Given the description of an element on the screen output the (x, y) to click on. 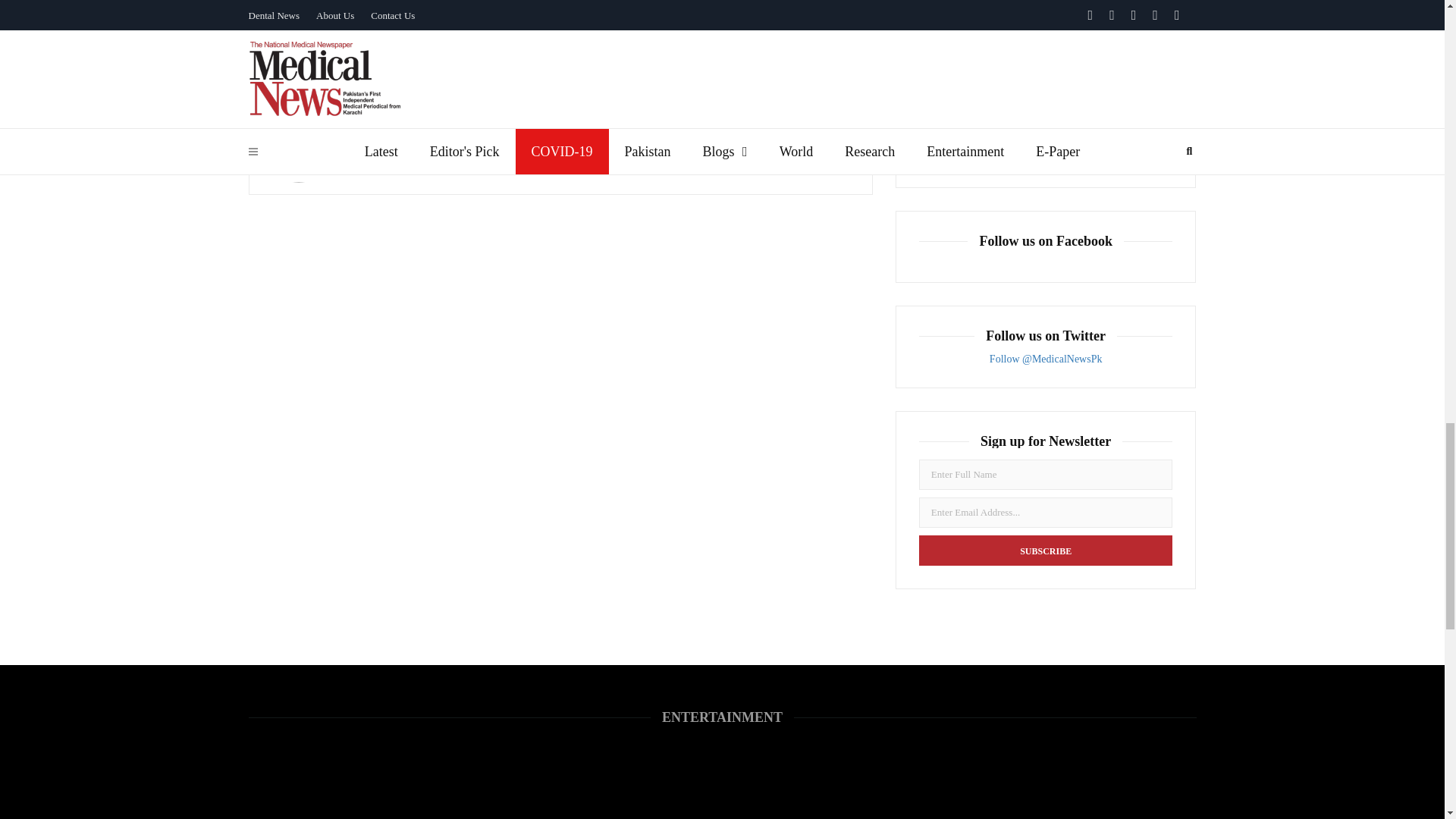
Subscribe (1046, 550)
JSMU lauds Dr Waqas for research excellence (957, 82)
Revolutionary HIV drug can drastically cut treatment costs (957, 141)
